Given the description of an element on the screen output the (x, y) to click on. 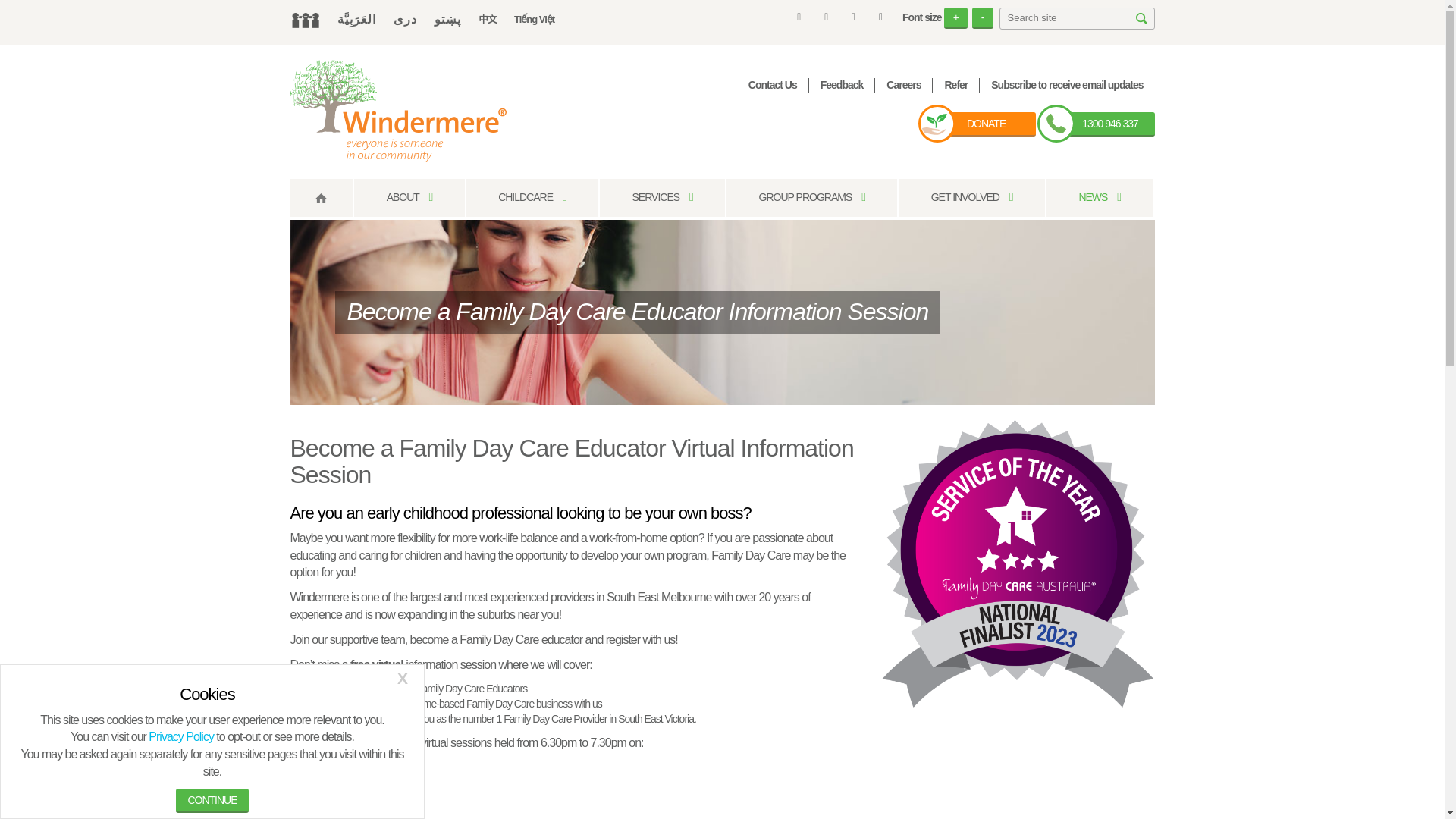
decrease font size (982, 17)
Privacy Policy (181, 736)
CONTINUE (211, 800)
- (982, 17)
increase font size (955, 17)
